Given the description of an element on the screen output the (x, y) to click on. 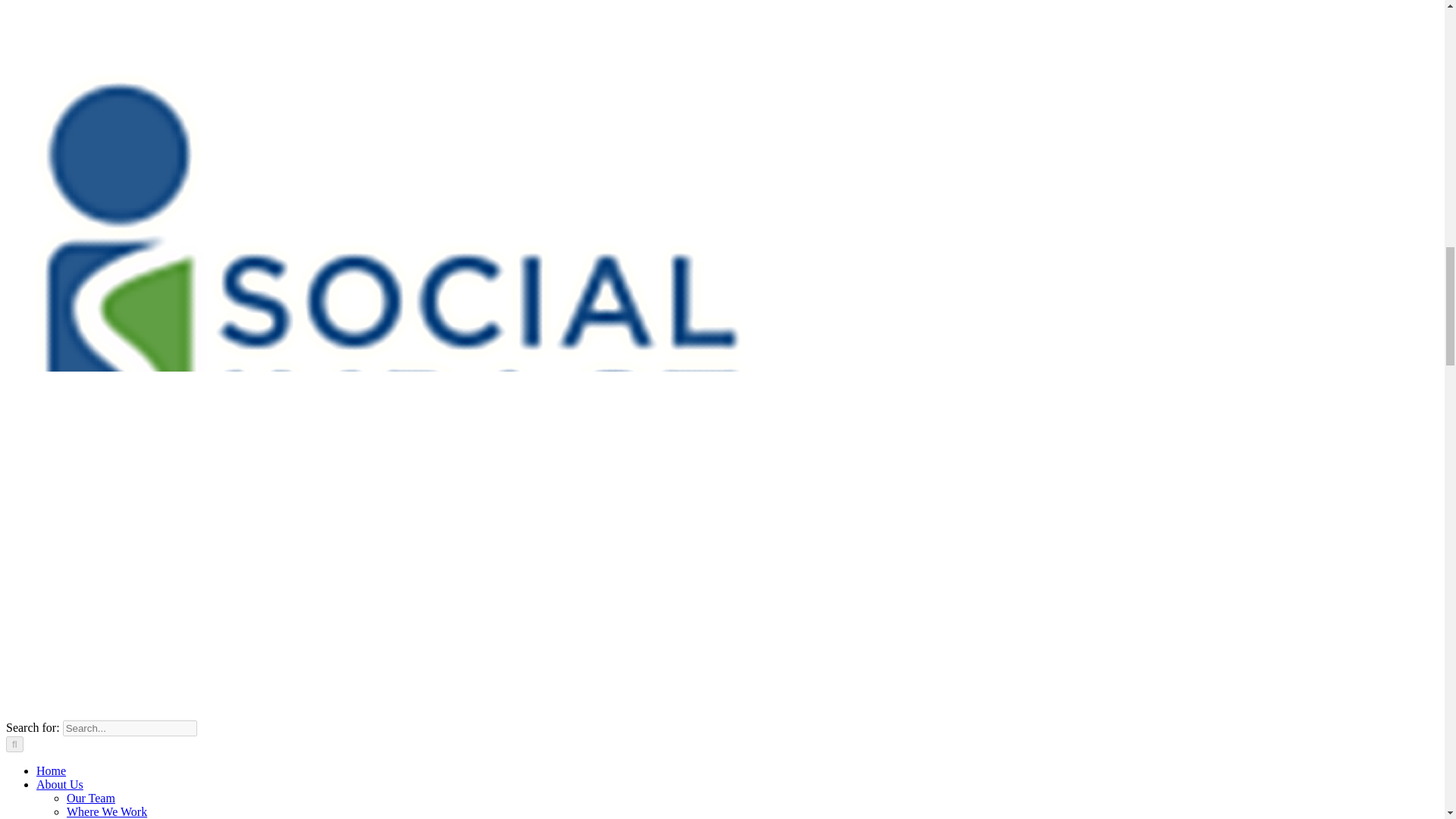
Our Team (90, 797)
Home (50, 770)
About Us (59, 784)
Where We Work (106, 811)
